Given the description of an element on the screen output the (x, y) to click on. 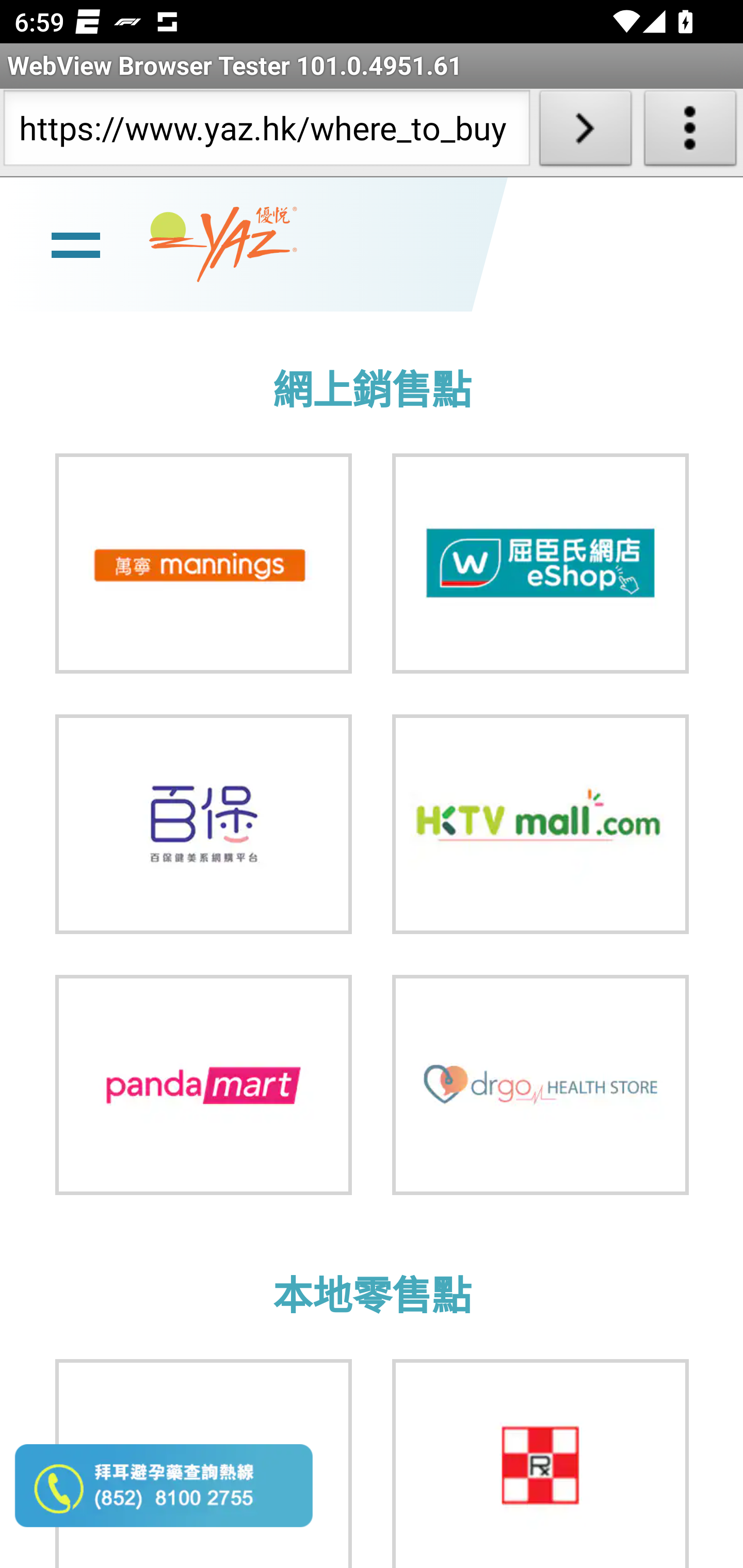
https://www.yaz.hk/where_to_buy (266, 132)
Load URL (585, 132)
About WebView (690, 132)
www.yaz (222, 244)
line Toggle burger menu (75, 242)
867879 (202, 563)
BP_204260 (540, 563)
2XzH14G (202, 823)
H0888001_S_10134526 (540, 823)
3tGYu9R (202, 1083)
family-planning (540, 1083)
